Given the description of an element on the screen output the (x, y) to click on. 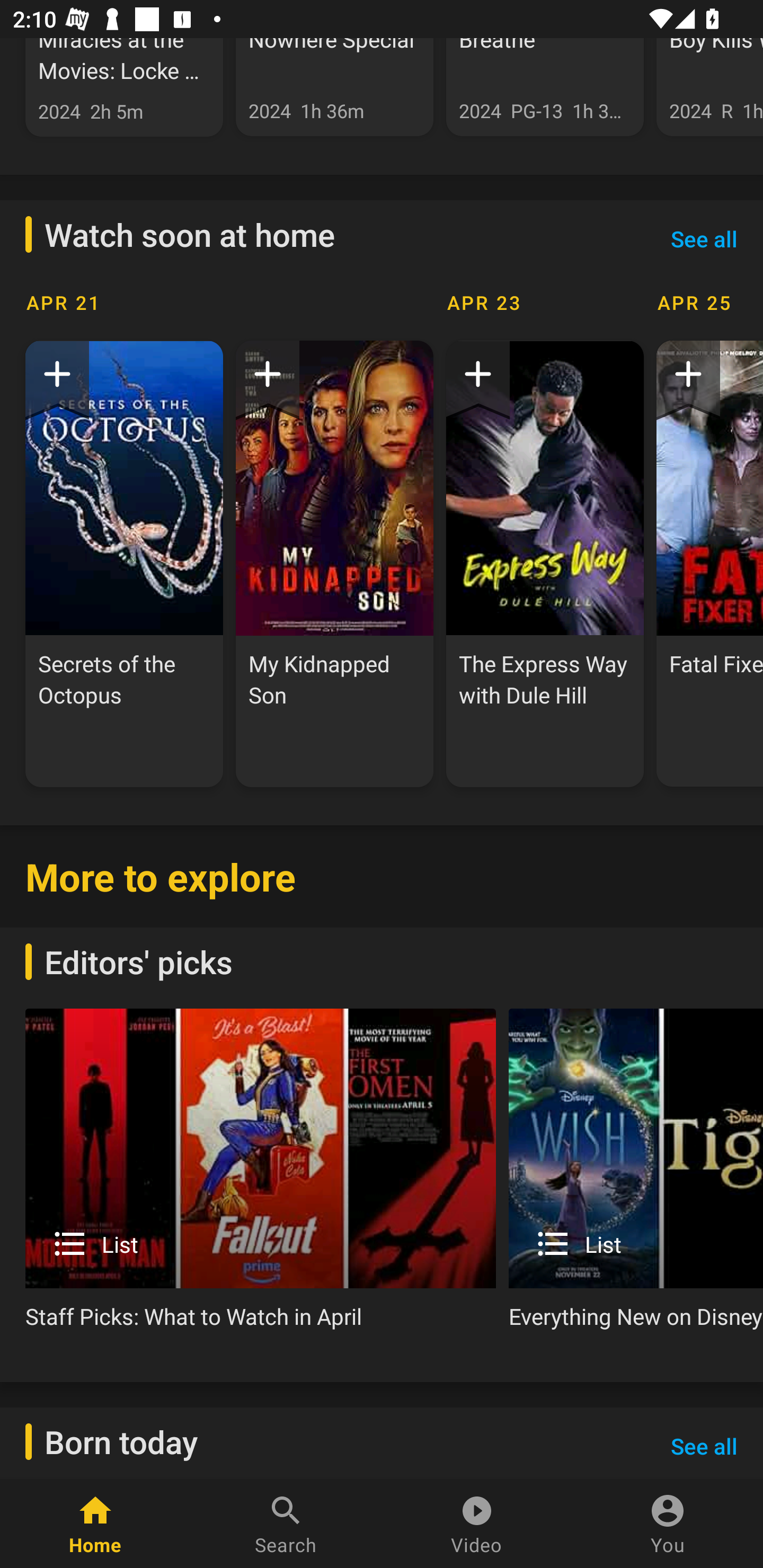
Nowhere Special 2024  1h 36m (334, 86)
Breathe 2024  PG-13  1h 33m (544, 86)
See all See all Watch soon at home (703, 238)
Secrets of the Octopus (123, 563)
My Kidnapped Son (334, 563)
The Express Way with Dule Hill (544, 563)
Fatal Fixer Upper (709, 563)
List Staff Picks: What to Watch in April (260, 1175)
List Everything New on Disney+ in April (635, 1175)
See all See all Born today (703, 1443)
Search (285, 1523)
Video (476, 1523)
You (667, 1523)
